Given the description of an element on the screen output the (x, y) to click on. 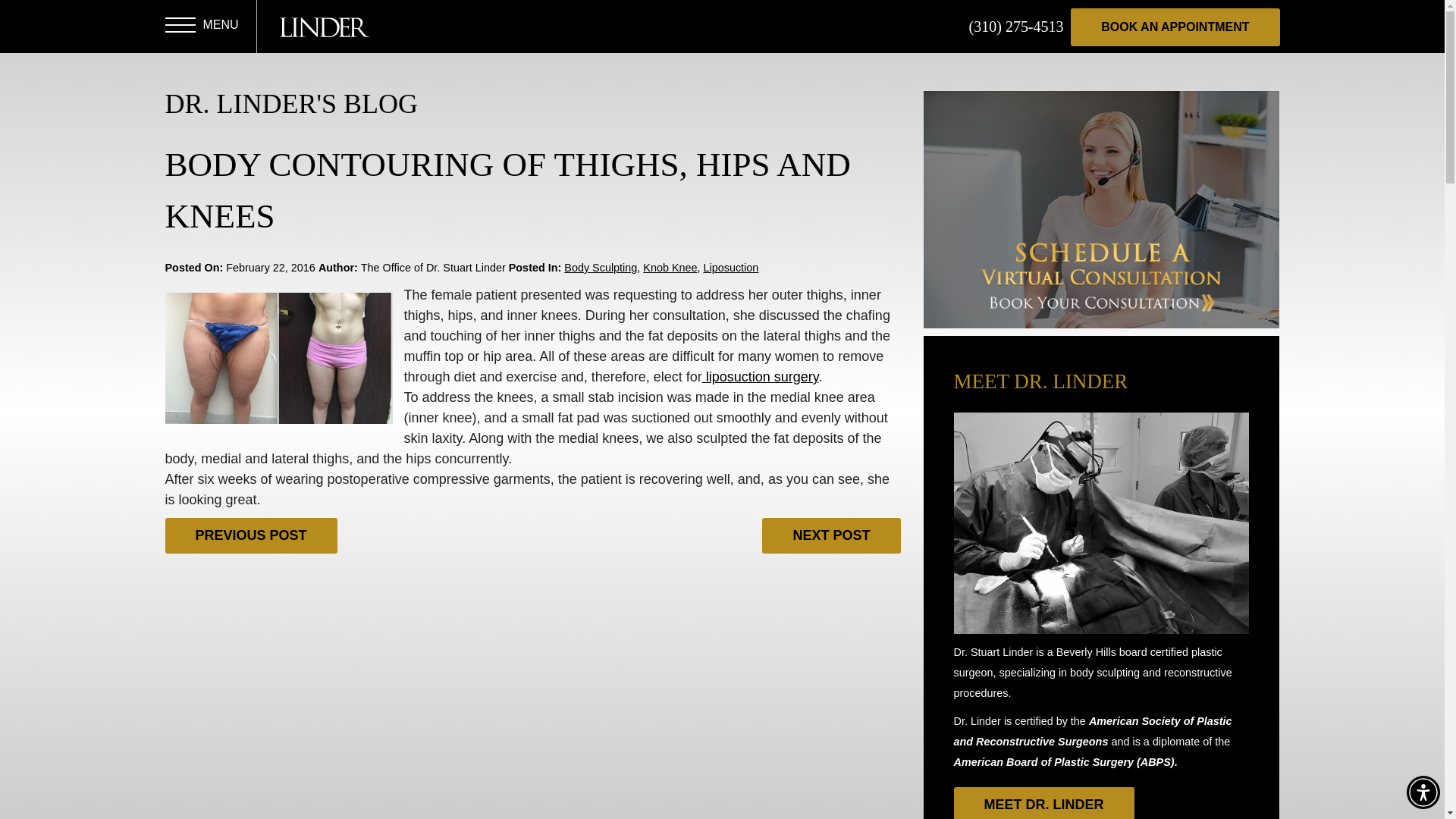
BOOK AN APPOINTMENT (1174, 26)
Accessibility Menu (1422, 792)
Dr. Linder (323, 26)
Open Menu (180, 27)
